Given the description of an element on the screen output the (x, y) to click on. 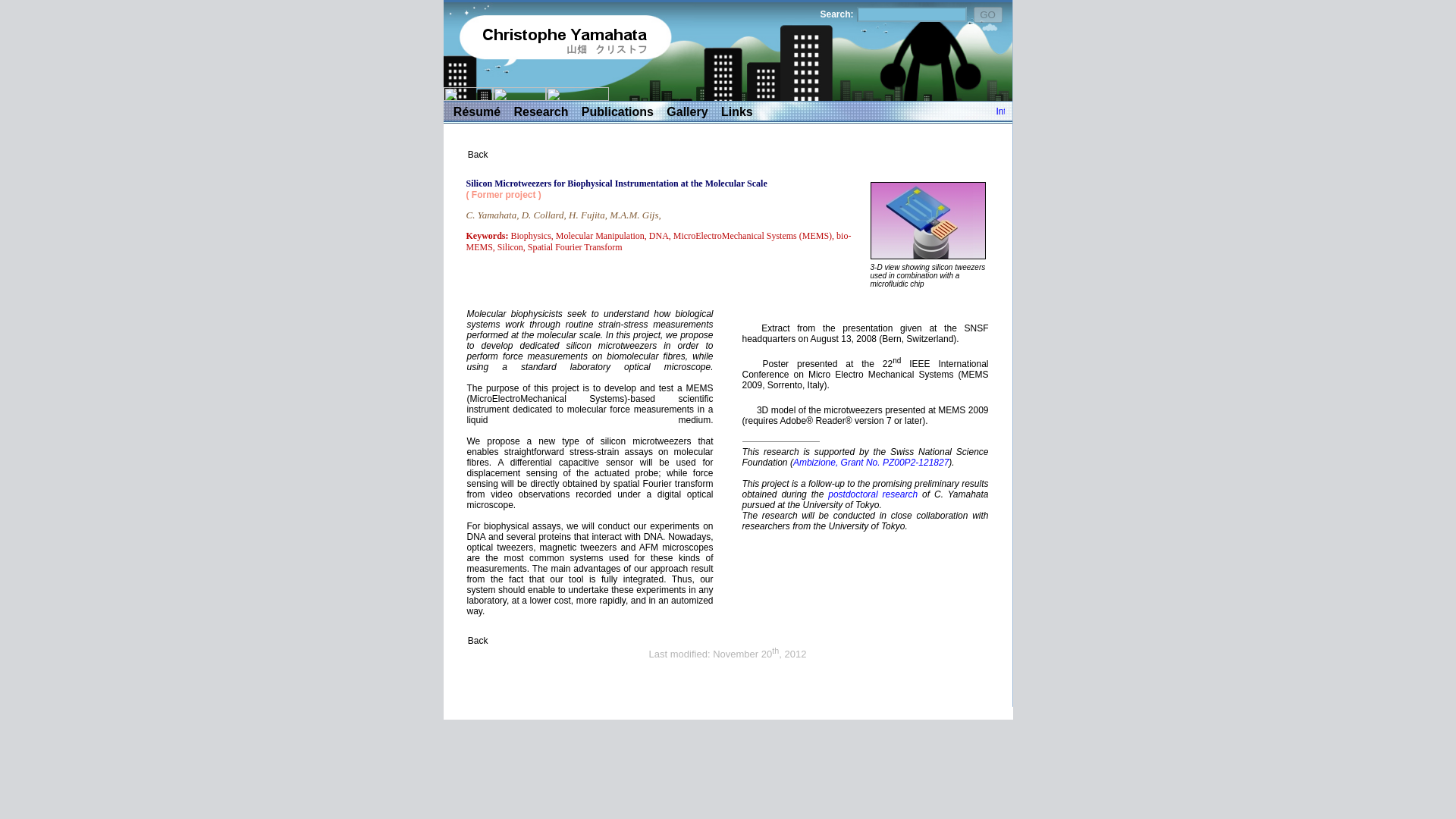
Ambizione, Grant No. PZ00P2-121827 (871, 462)
GO (988, 13)
Publications (616, 111)
postdoctoral research (872, 493)
Links (736, 111)
Gallery (686, 111)
Back (477, 154)
Research (540, 111)
GO (988, 13)
Back (477, 640)
